Given the description of an element on the screen output the (x, y) to click on. 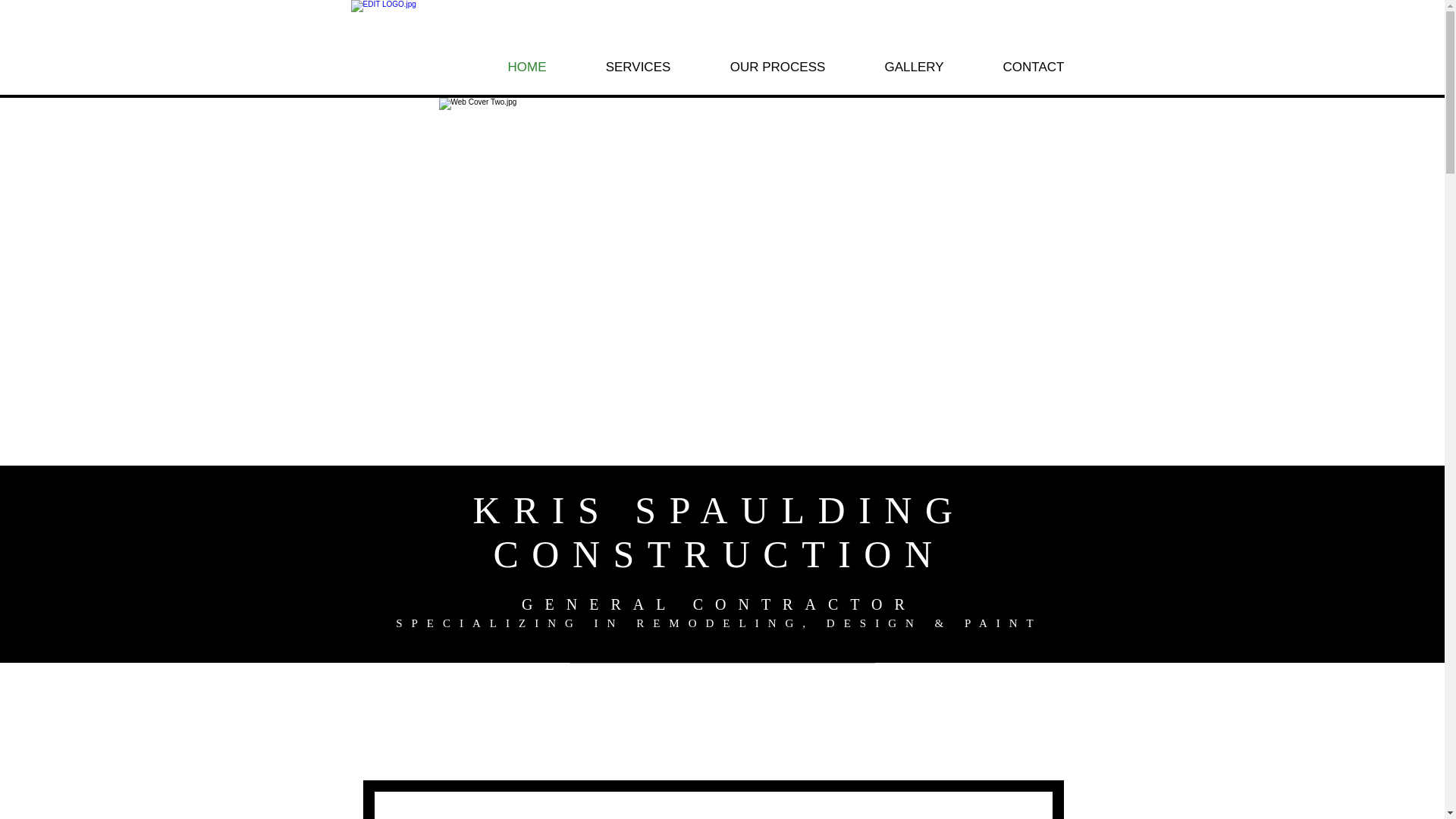
GALLERY (915, 67)
CONTACT (1034, 67)
HOME (526, 67)
SERVICES (638, 67)
OUR PROCESS (778, 67)
